Given the description of an element on the screen output the (x, y) to click on. 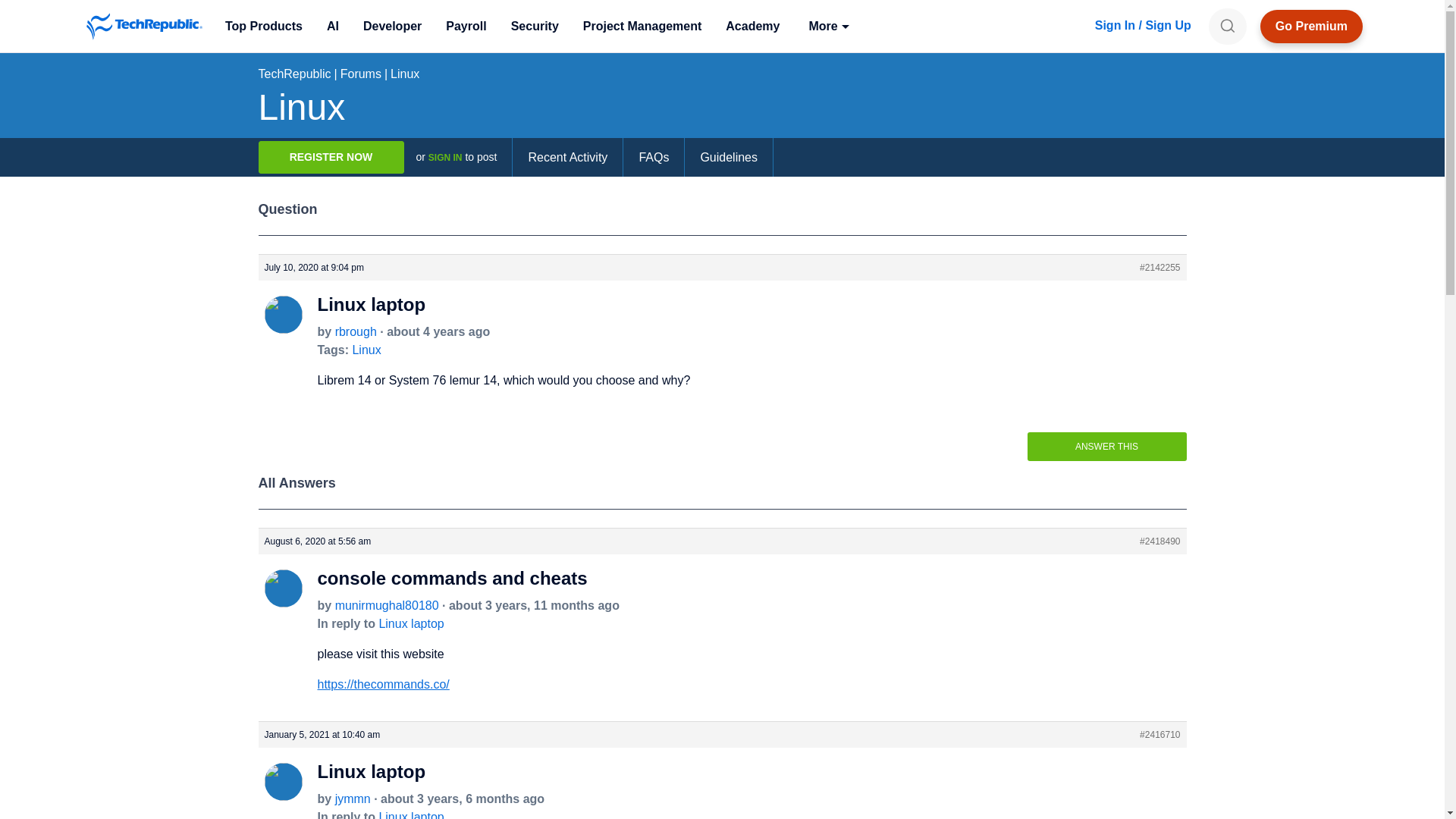
Linux (404, 73)
Top Products (263, 26)
SIGN IN (445, 157)
View rbrough's profile (355, 331)
Project Management (641, 26)
TechRepublic (143, 25)
REGISTER NOW (330, 156)
View munirmughal80180's profile (282, 600)
Security (534, 26)
Payroll (465, 26)
Go Premium (1311, 25)
TechRepublic Premium (1311, 25)
TechRepublic (143, 25)
Recent Activity (567, 157)
Forums (360, 73)
